Given the description of an element on the screen output the (x, y) to click on. 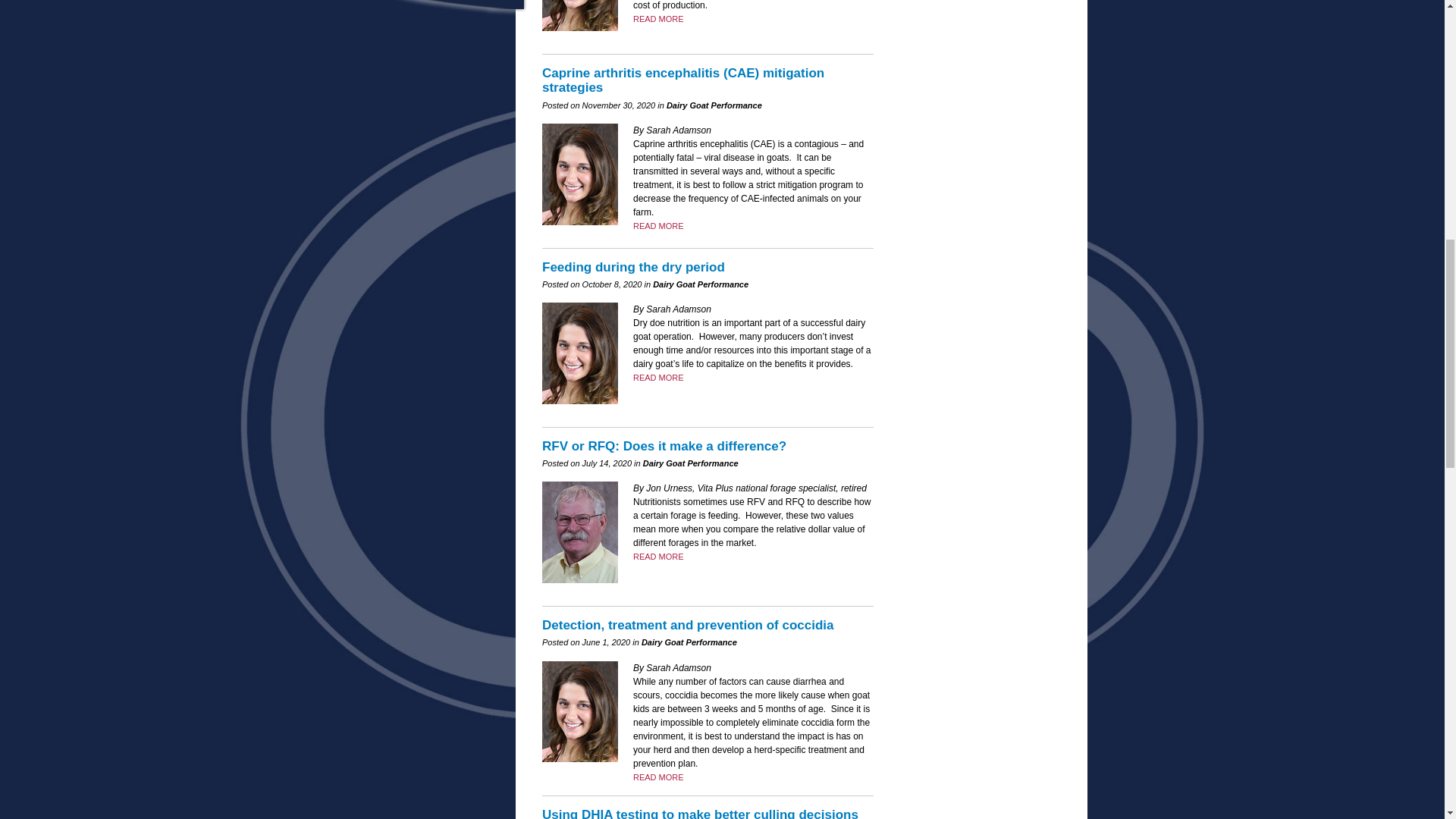
Winter calf barn ventilation (658, 777)
Winter calf barn ventilation (658, 225)
Winter calf barn ventilation (658, 377)
Winter calf barn ventilation (658, 556)
Winter calf barn ventilation (658, 18)
